Given the description of an element on the screen output the (x, y) to click on. 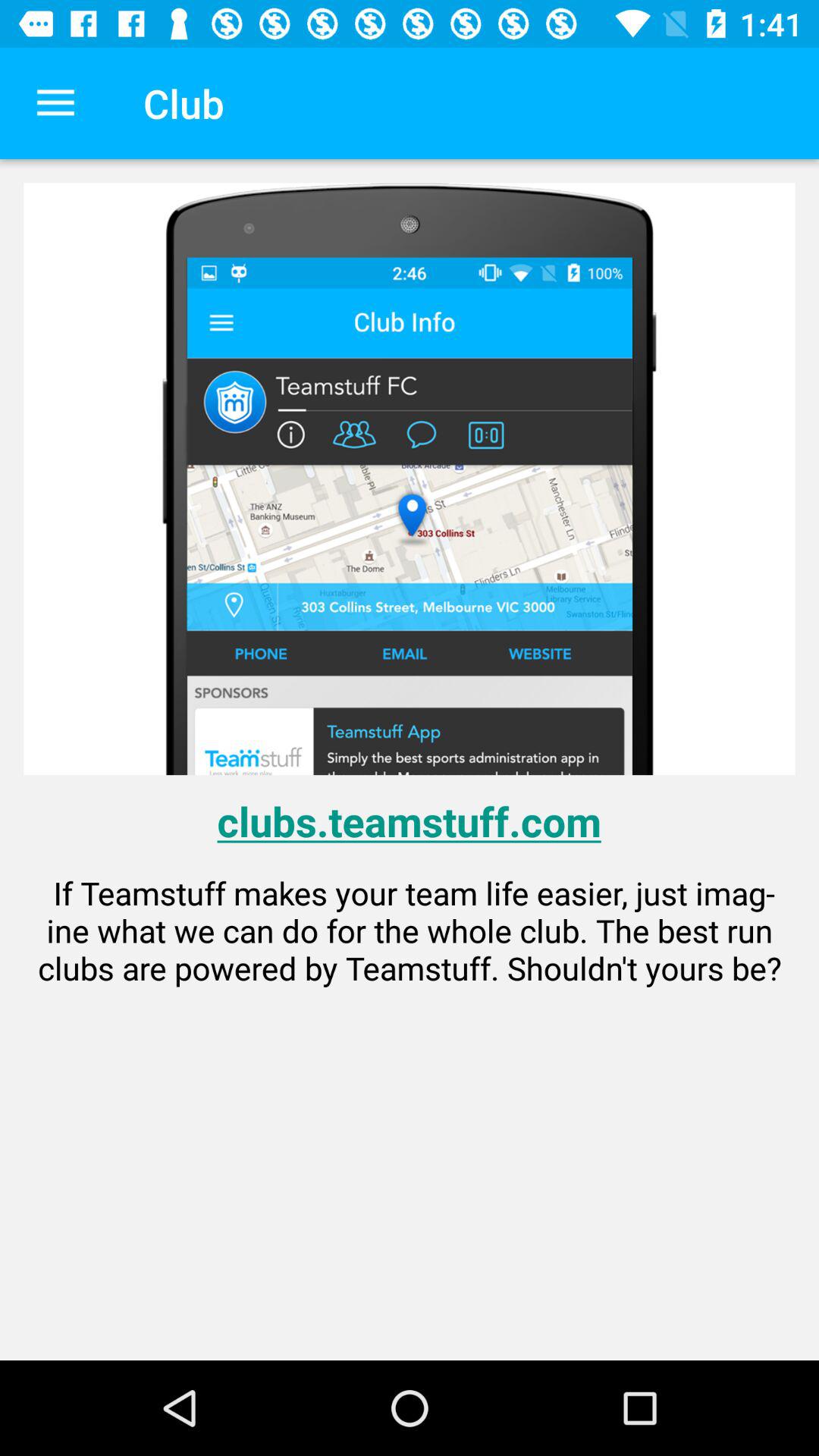
press item to the left of the club (55, 103)
